Given the description of an element on the screen output the (x, y) to click on. 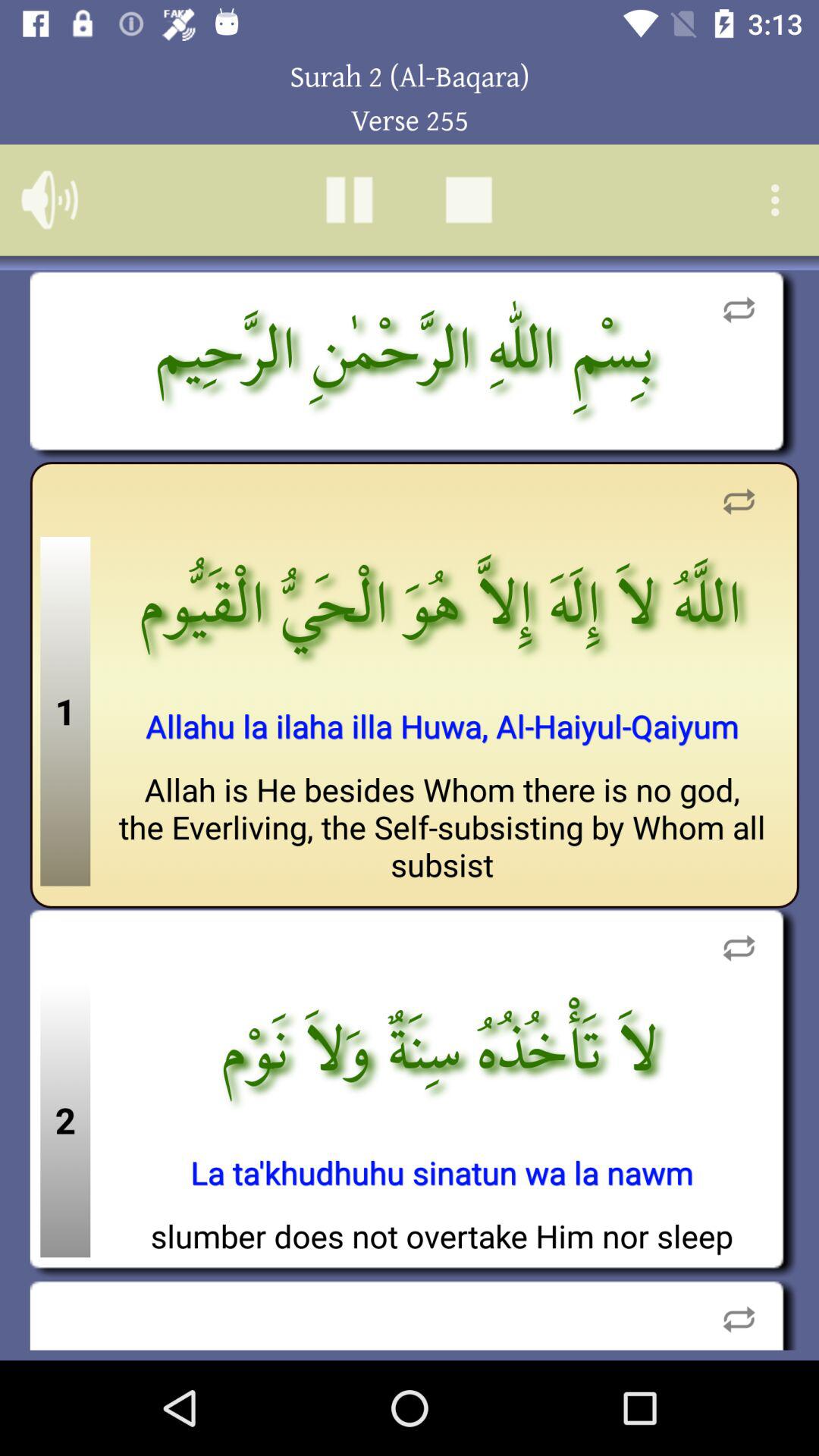
stop button (468, 199)
